Given the description of an element on the screen output the (x, y) to click on. 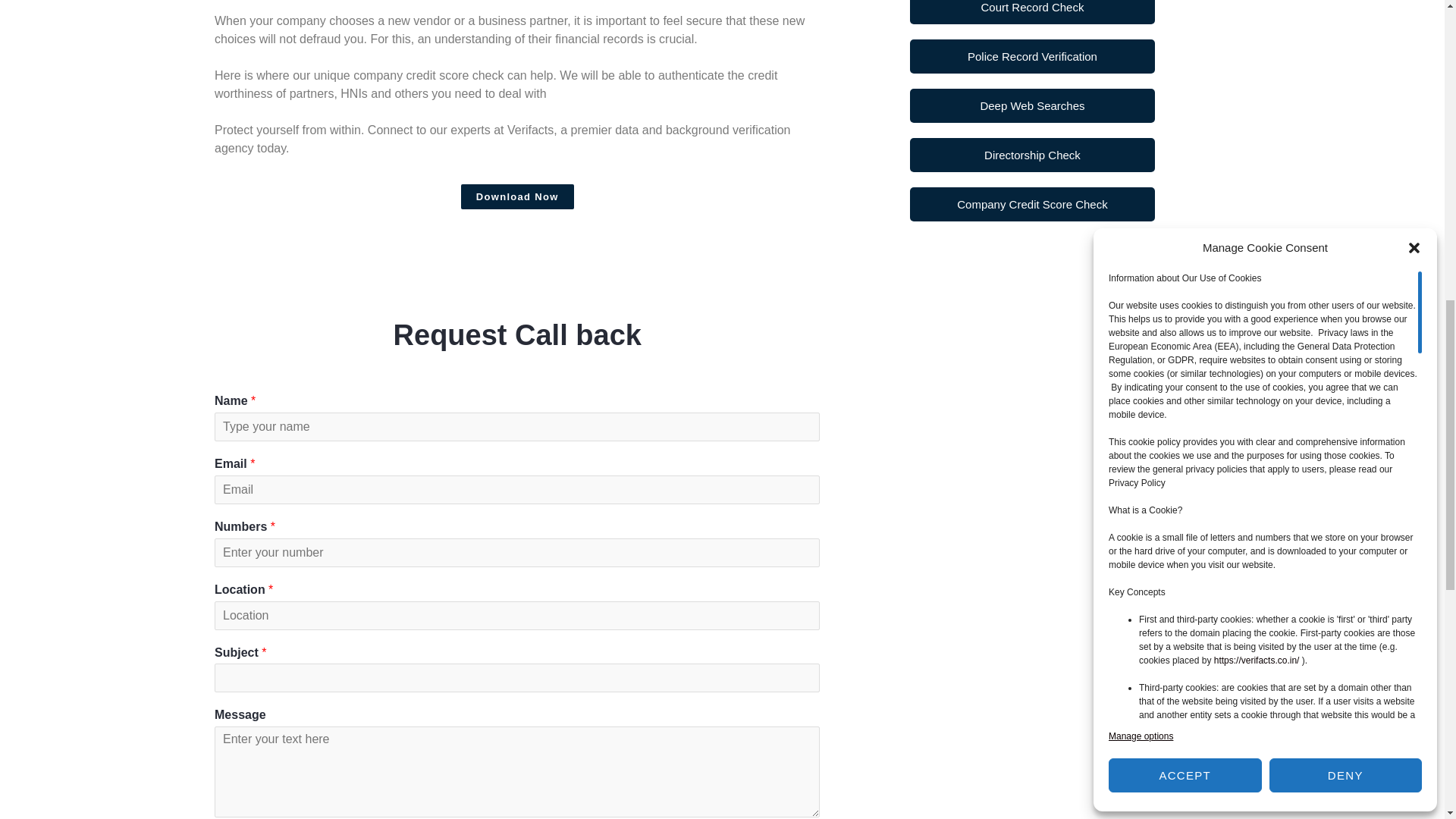
Download Now (517, 196)
Directorship Check (1032, 154)
Court Record Check (1032, 12)
Deep Web Searches (1032, 105)
Police Record Verification (1032, 56)
